Given the description of an element on the screen output the (x, y) to click on. 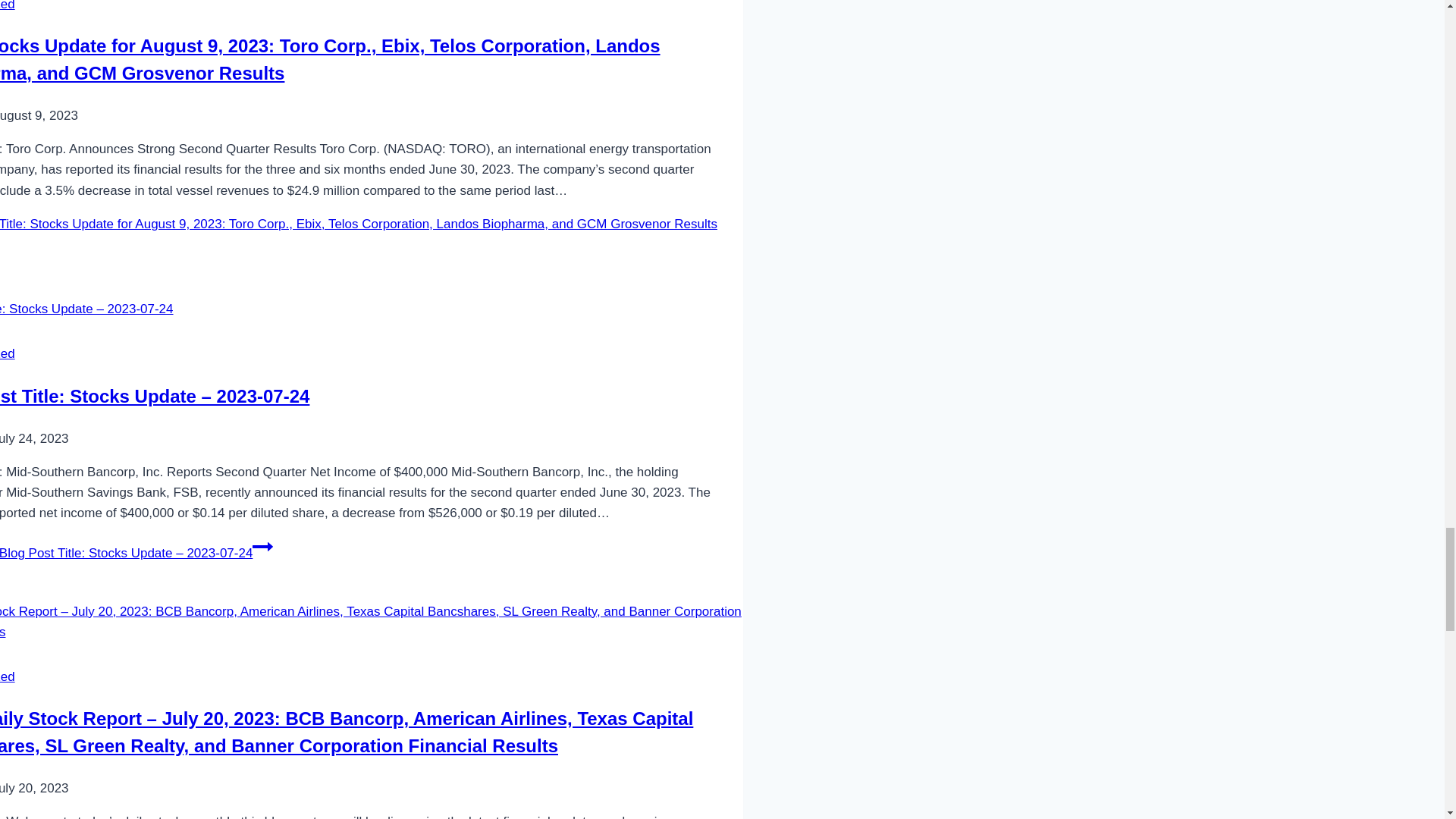
Uncategorized (7, 5)
Uncategorized (7, 676)
Uncategorized (7, 353)
Continue (262, 546)
